Given the description of an element on the screen output the (x, y) to click on. 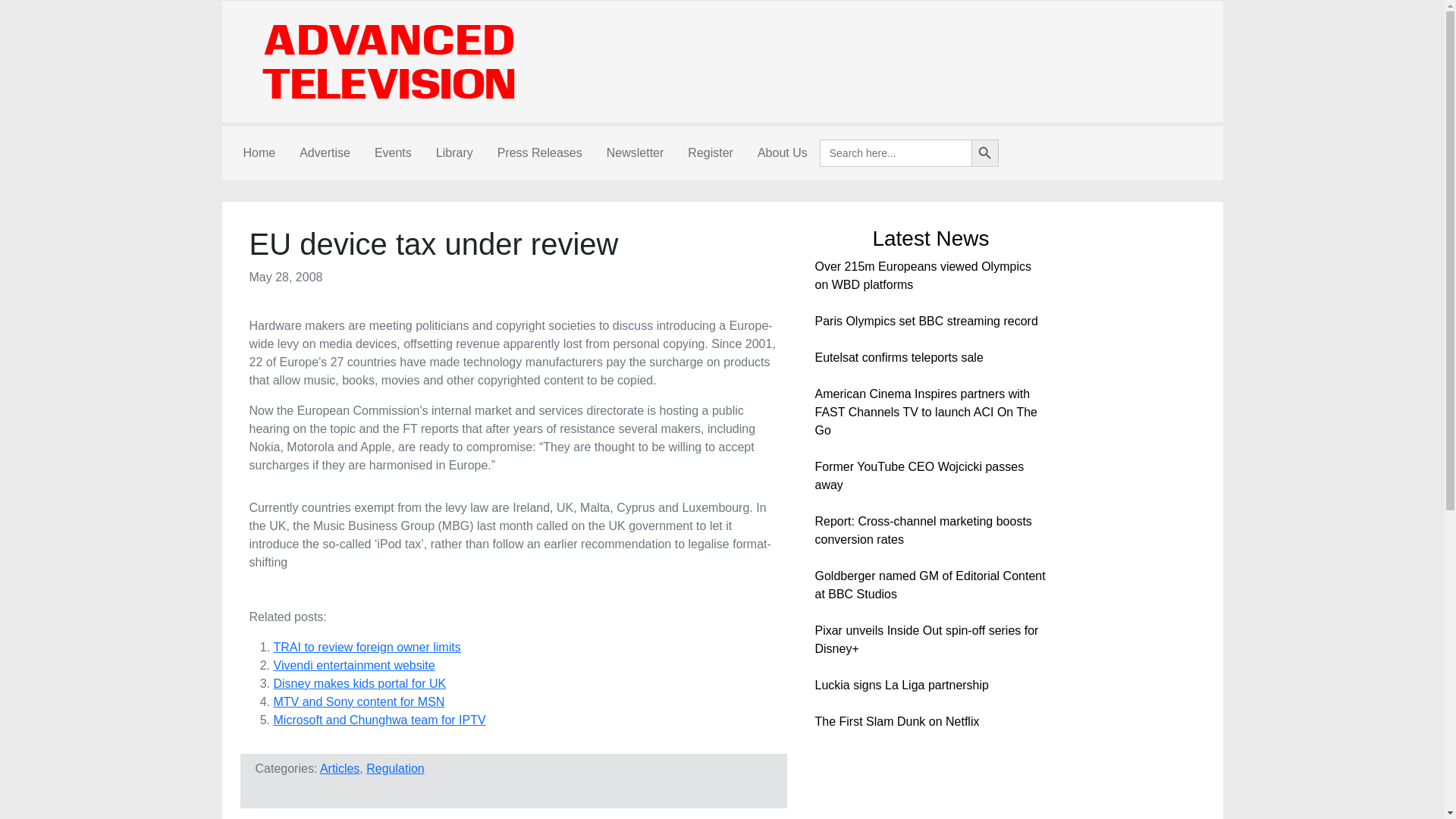
Eutelsat confirms teleports sale (897, 357)
Library (453, 153)
TRAI to review foreign owner limits (366, 646)
Events (392, 153)
Newsletter (635, 153)
Microsoft and Chunghwa team for IPTV (378, 719)
Luckia signs La Liga partnership (900, 684)
Report: Cross-channel marketing boosts conversion rates (921, 530)
Disney makes kids portal for UK (359, 683)
Home (258, 153)
